Given the description of an element on the screen output the (x, y) to click on. 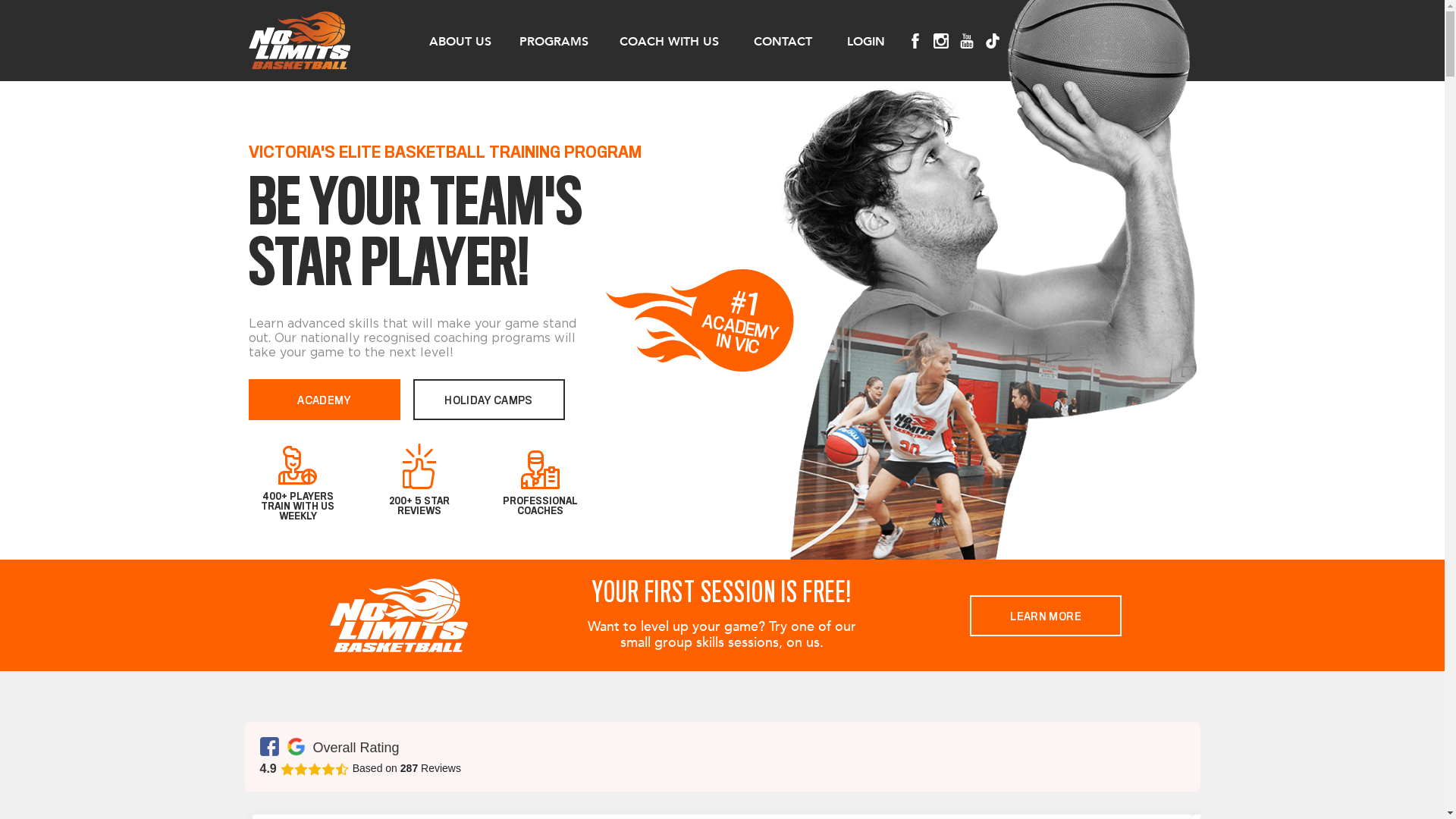
HOLIDAY CAMPS Element type: text (488, 399)
ACADEMY Element type: text (324, 399)
LEARN MORE Element type: text (1045, 615)
LOGIN Element type: text (863, 40)
SUBMIT Element type: text (75, 20)
ABOUT US Element type: text (458, 40)
CONTACT Element type: text (780, 40)
COACH WITH US Element type: text (666, 40)
